Given the description of an element on the screen output the (x, y) to click on. 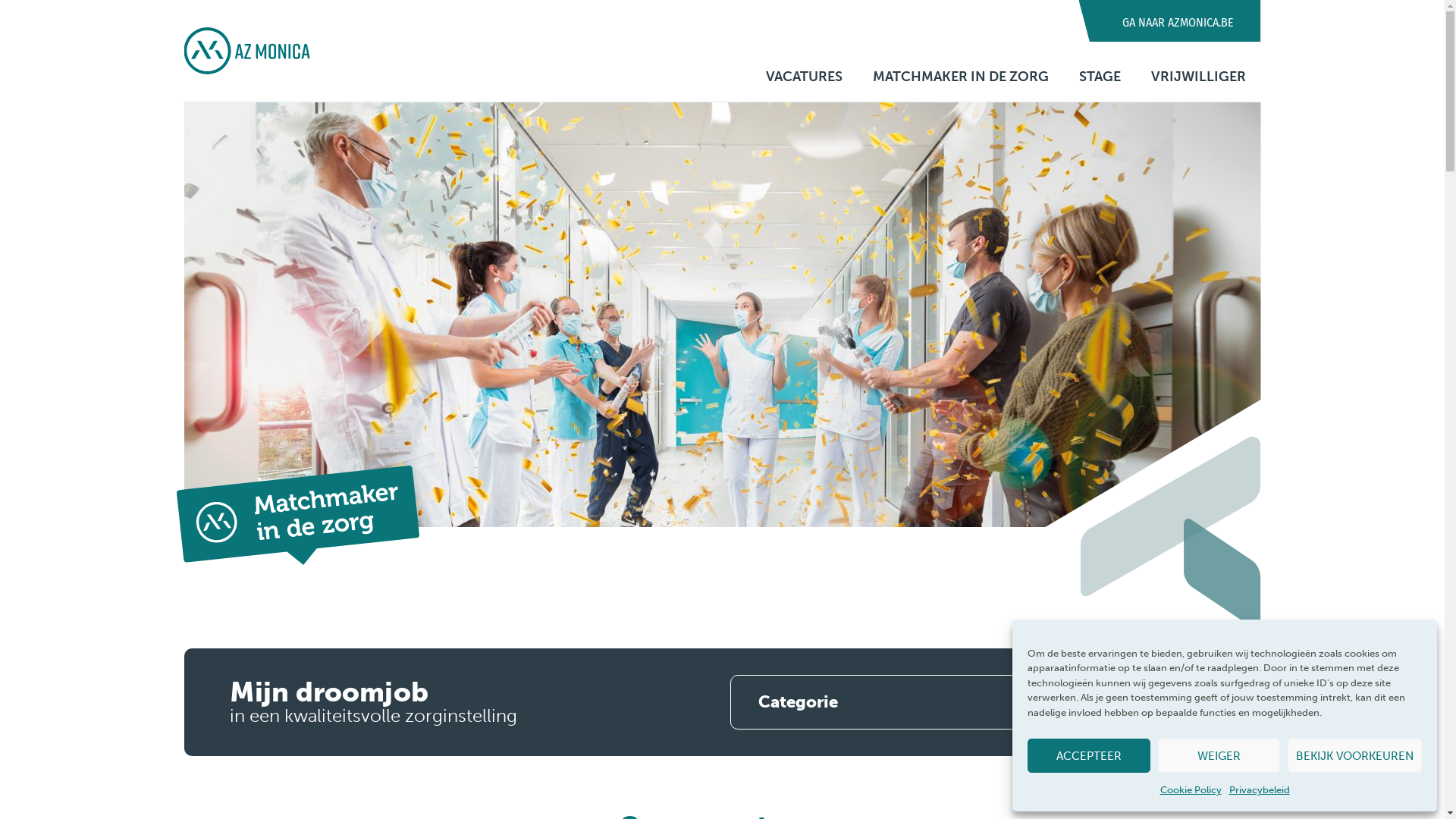
ACCEPTEER Element type: text (1088, 755)
WEIGER Element type: text (1218, 755)
MATCHMAKER IN DE ZORG Element type: text (960, 76)
Privacybeleid Element type: text (1258, 790)
GA NAAR AZMONICA.BE Element type: text (1177, 20)
BEKIJK VOORKEUREN Element type: text (1354, 755)
STAGE Element type: text (1099, 76)
Cookie Policy Element type: text (1190, 790)
Ga naar de homepage Element type: hover (246, 50)
VRIJWILLIGER Element type: text (1198, 76)
VACATURES Element type: text (803, 76)
